Given the description of an element on the screen output the (x, y) to click on. 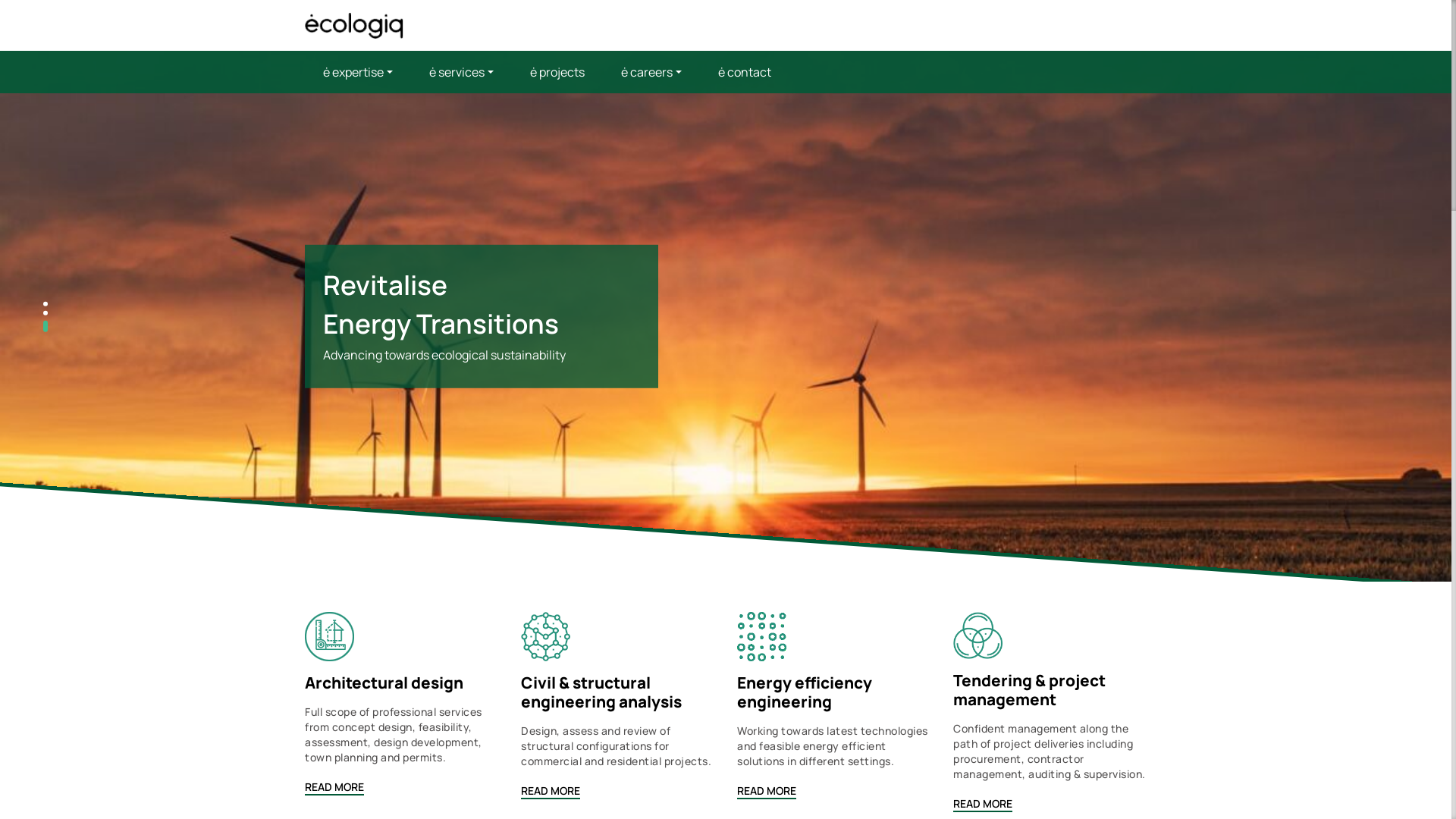
READ MORE Element type: text (550, 791)
READ MORE Element type: text (982, 804)
READ MORE Element type: text (766, 791)
READ MORE Element type: text (334, 787)
